Given the description of an element on the screen output the (x, y) to click on. 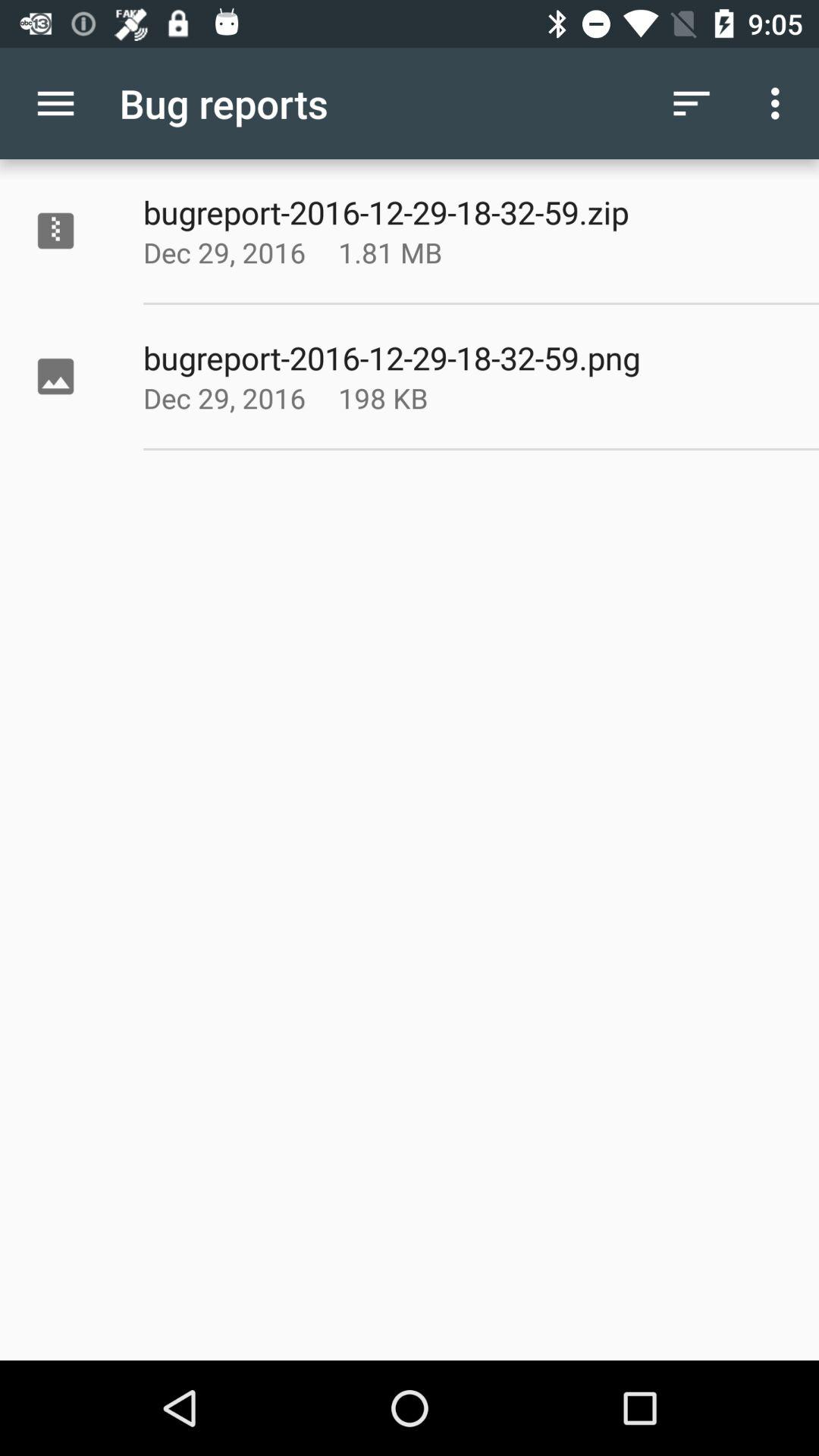
open item next to the bug reports item (55, 103)
